Given the description of an element on the screen output the (x, y) to click on. 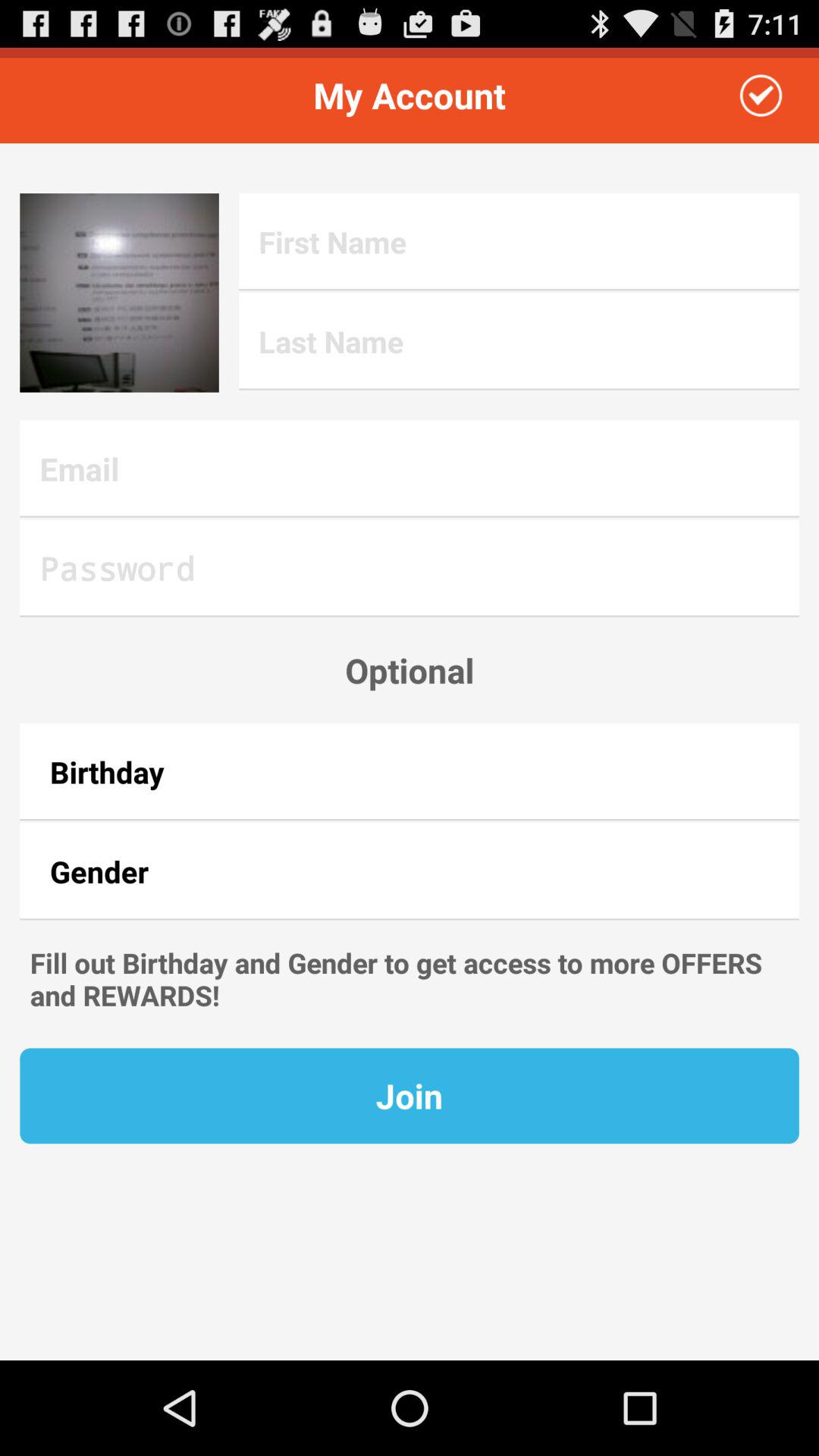
click the join (409, 1095)
